Given the description of an element on the screen output the (x, y) to click on. 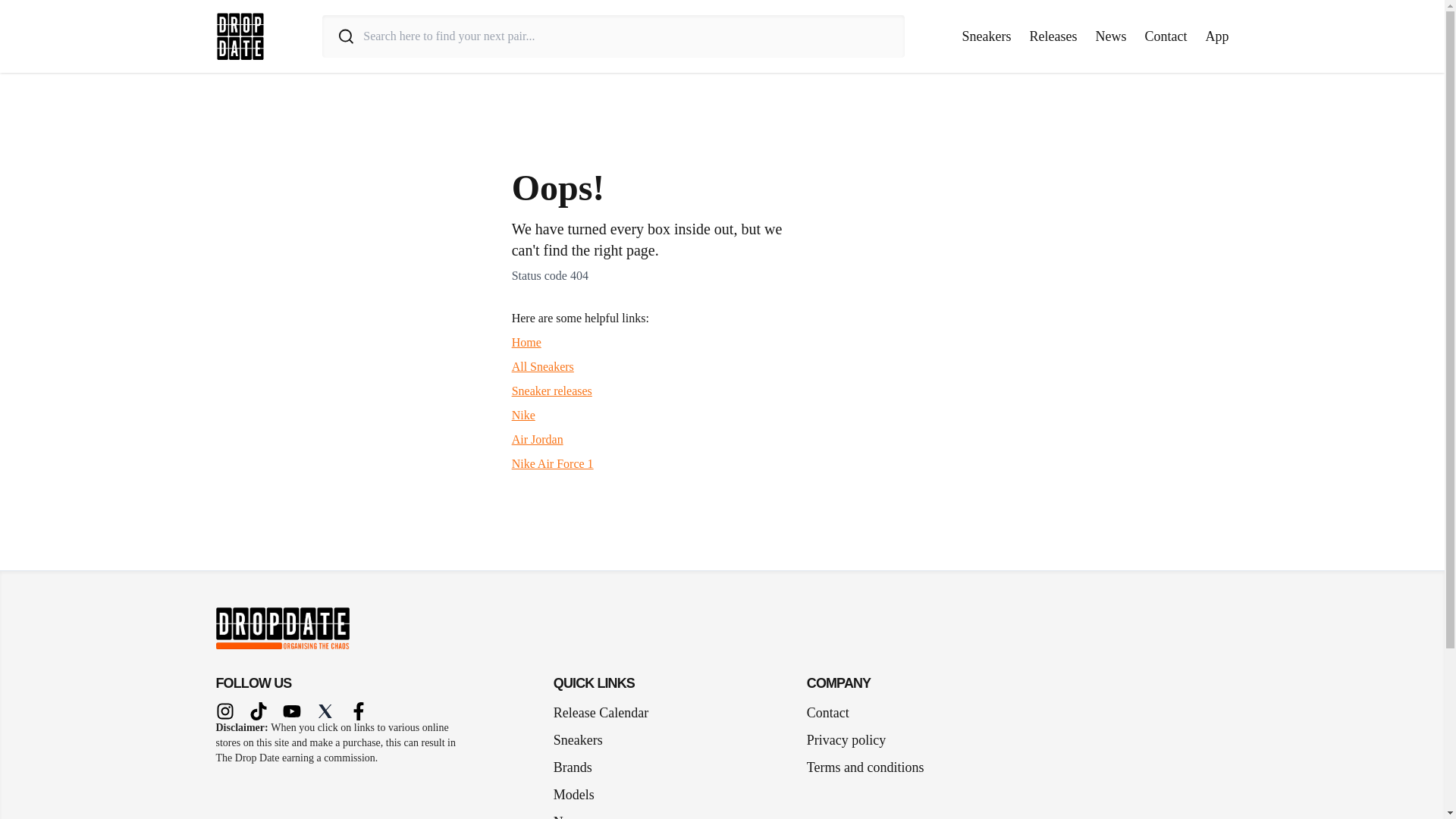
Privacy policy (845, 740)
Nike (523, 414)
Sneakers (583, 740)
News (574, 810)
Sneaker releases (552, 390)
Terms and conditions (865, 767)
Contact (827, 712)
Sneakers (986, 36)
Release Calendar (600, 712)
App (1216, 36)
